Given the description of an element on the screen output the (x, y) to click on. 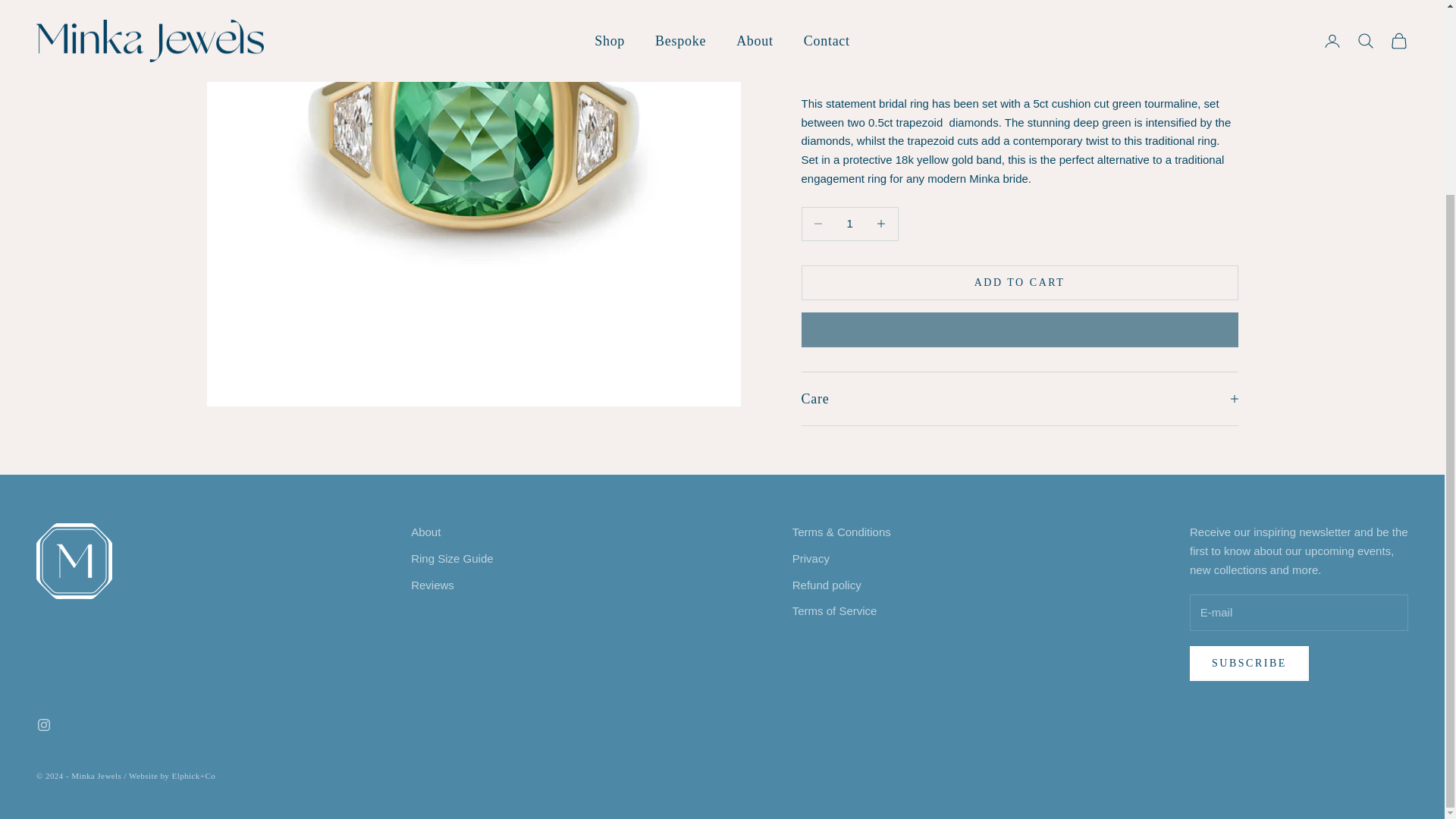
1 (849, 224)
